Given the description of an element on the screen output the (x, y) to click on. 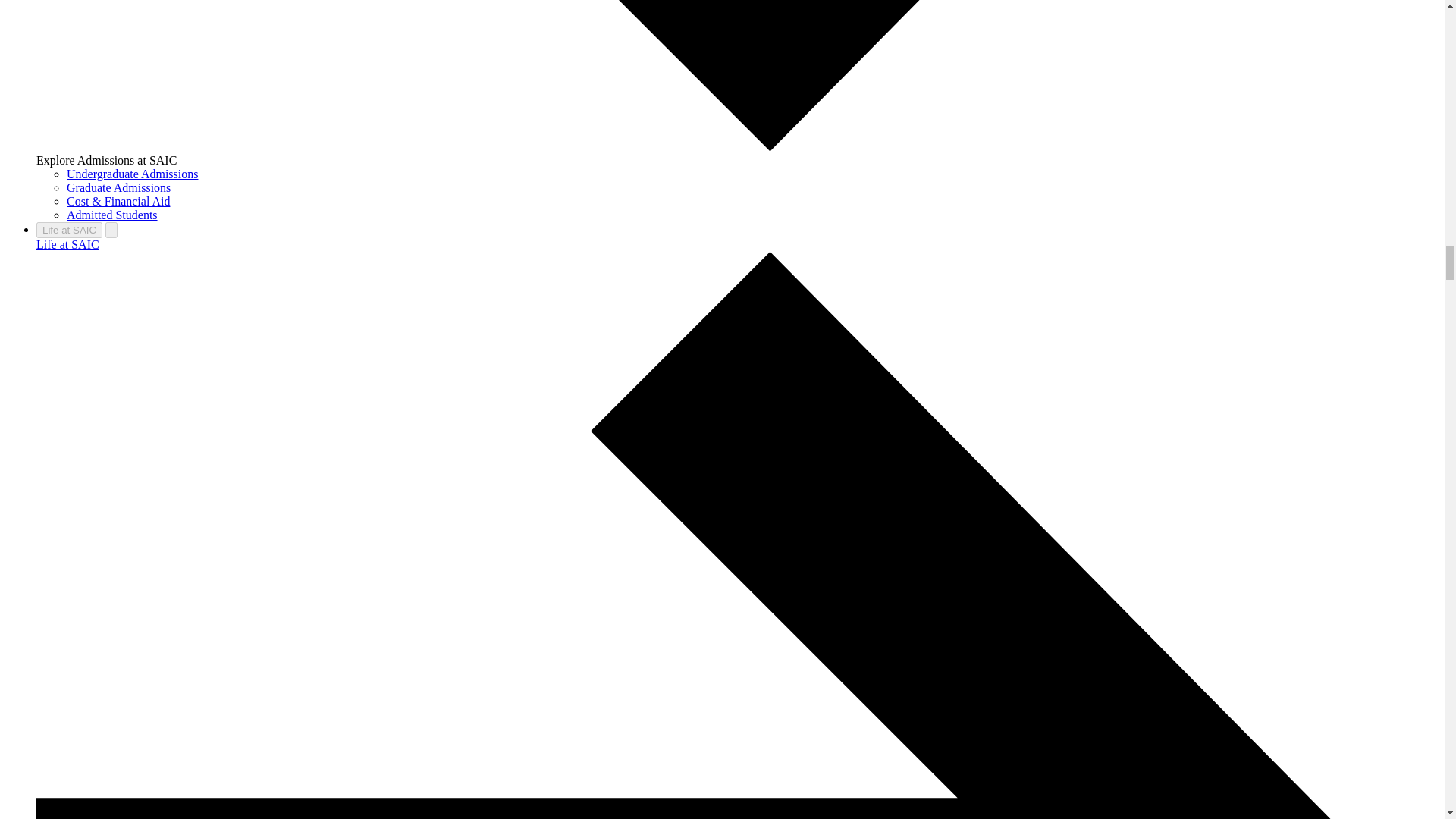
Admitted Students (111, 214)
Life at SAIC (67, 244)
Graduate Admissions (118, 187)
Life at SAIC (68, 229)
Undergraduate Admissions (132, 173)
